Given the description of an element on the screen output the (x, y) to click on. 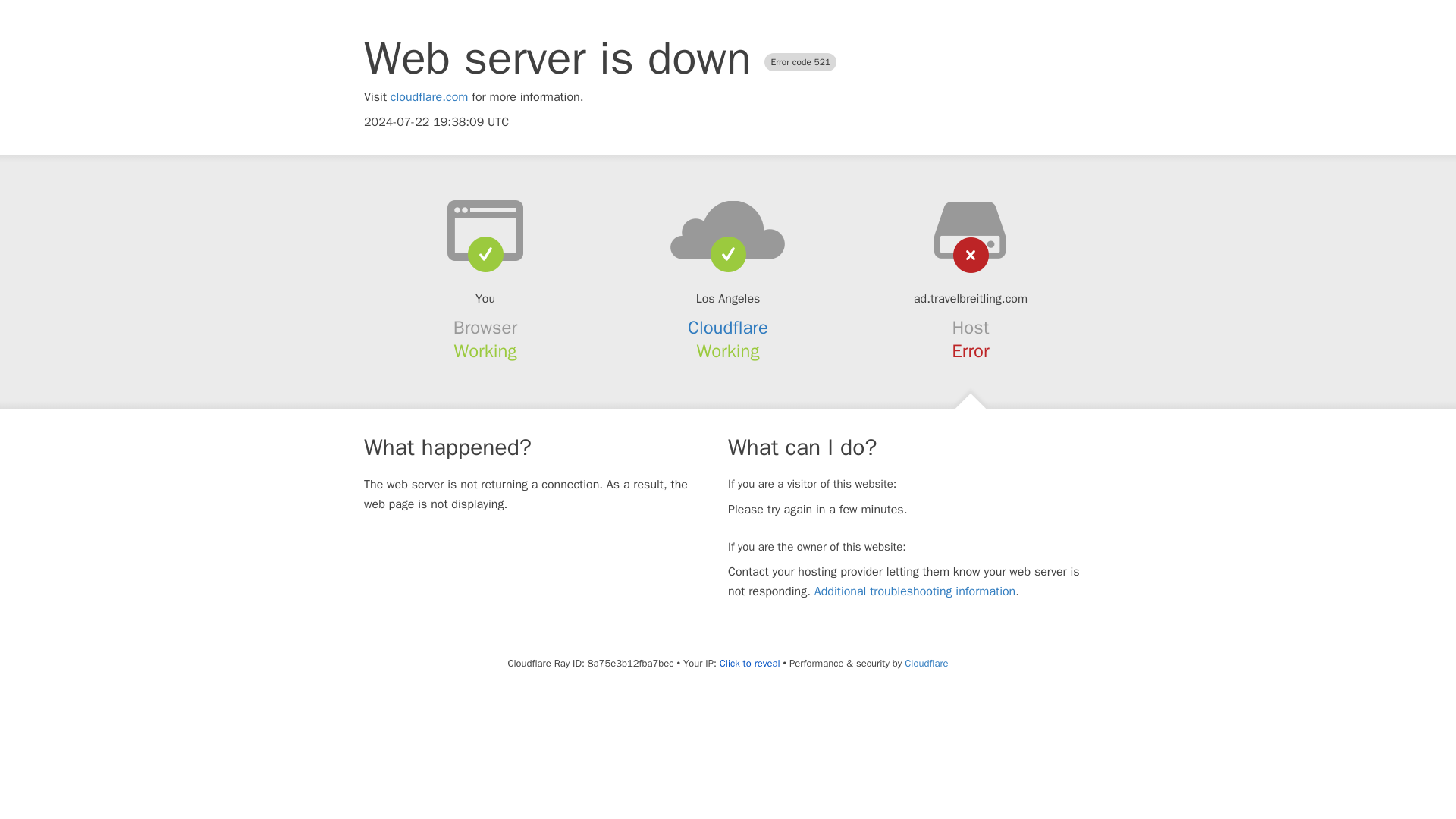
Additional troubleshooting information (913, 590)
Cloudflare (925, 662)
Cloudflare (727, 327)
cloudflare.com (429, 96)
Click to reveal (749, 663)
